Given the description of an element on the screen output the (x, y) to click on. 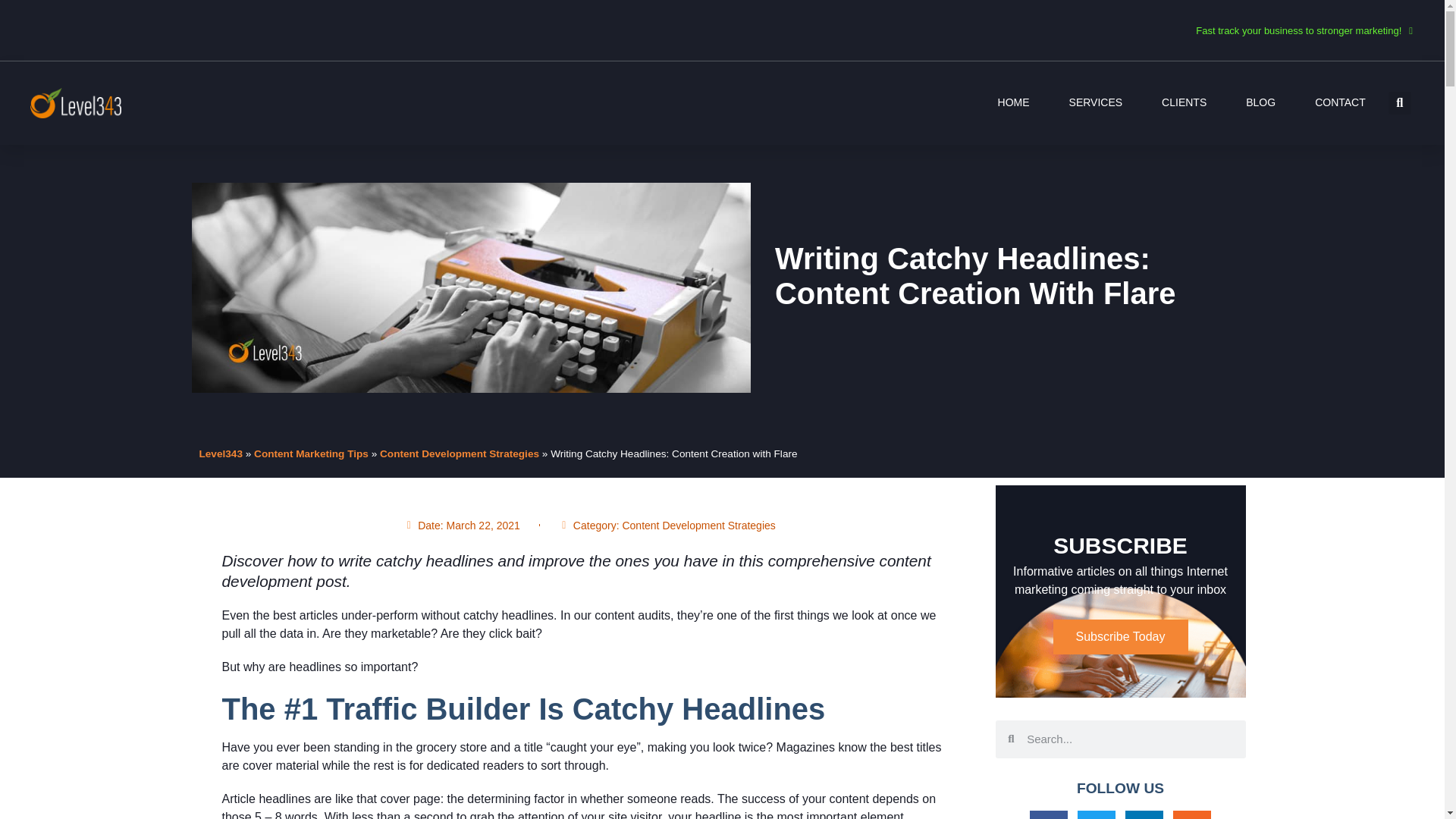
CONTACT (1339, 102)
SERVICES (1095, 102)
Fast track your business to stronger marketing! (1303, 30)
CLIENTS (1184, 102)
